Given the description of an element on the screen output the (x, y) to click on. 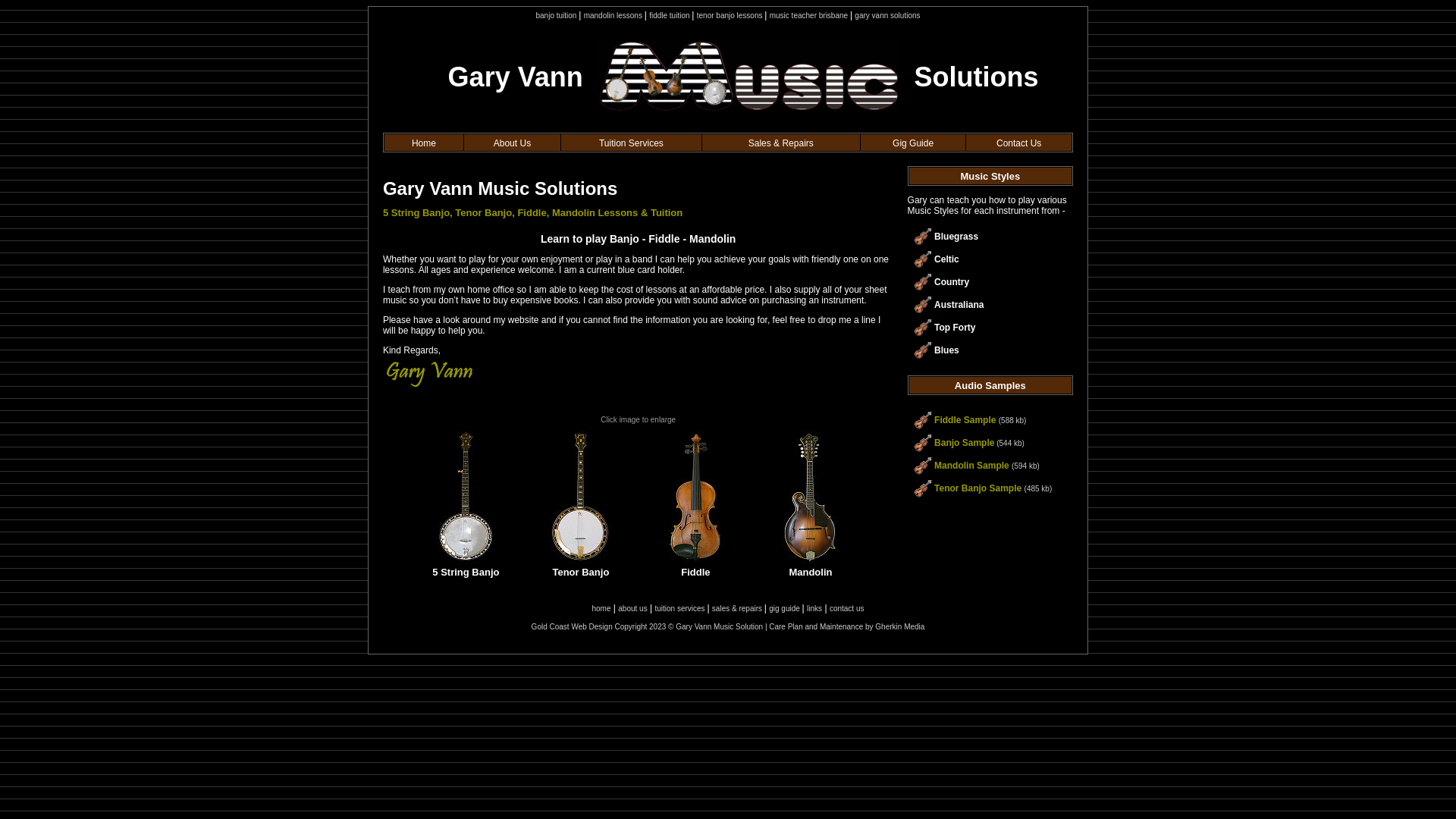
Mandolin Element type: hover (810, 558)
gary vann solutions Element type: text (886, 15)
Tenor Banjo Sample Element type: text (977, 487)
Gold Coast Web Design Element type: text (571, 626)
Home Element type: text (423, 143)
Tenor Banjo Element type: hover (580, 558)
Tuition Services Element type: text (631, 143)
Gherkin Media Element type: text (899, 626)
links Element type: text (814, 608)
music teacher brisbane Element type: text (809, 15)
Gig Guide Element type: text (912, 143)
About Us Element type: text (511, 143)
sales & repairs Element type: text (738, 608)
mandolin lessons Element type: text (613, 15)
Banjo Sample Element type: text (964, 441)
tuition services Element type: text (680, 608)
Mandolin Sample Element type: text (971, 464)
Contact Us Element type: text (1018, 143)
home Element type: text (600, 608)
tenor banjo lessons Element type: text (730, 15)
5 String Banjo Element type: hover (465, 558)
Sales & Repairs Element type: text (780, 143)
banjo tuition Element type: text (556, 15)
Fiddle Element type: hover (695, 558)
about us Element type: text (632, 608)
contact us Element type: text (846, 608)
Fiddle Sample Element type: text (964, 419)
gig guide Element type: text (784, 608)
fiddle tuition Element type: text (670, 15)
